Given the description of an element on the screen output the (x, y) to click on. 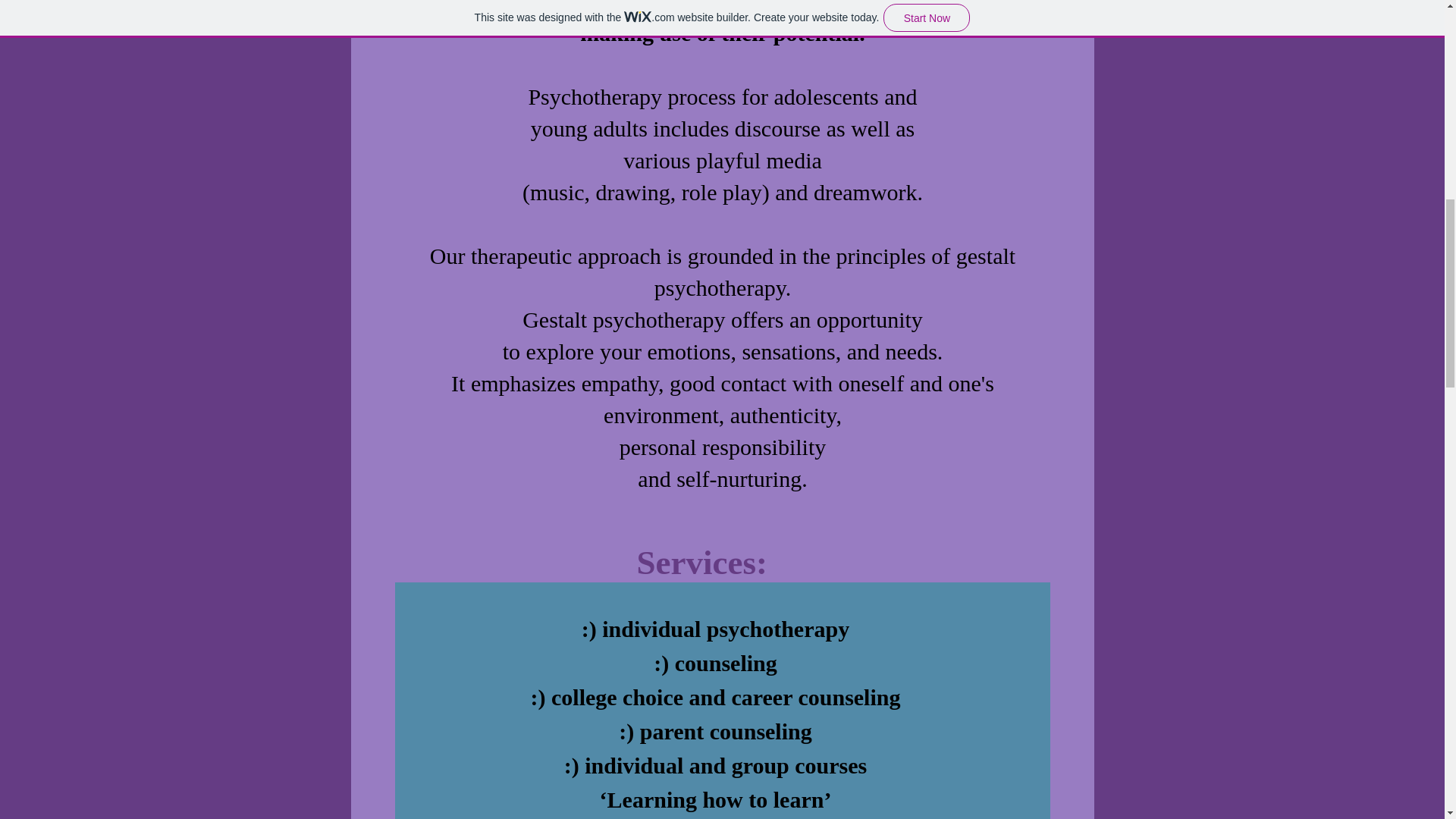
individual and group courses (725, 765)
